Given the description of an element on the screen output the (x, y) to click on. 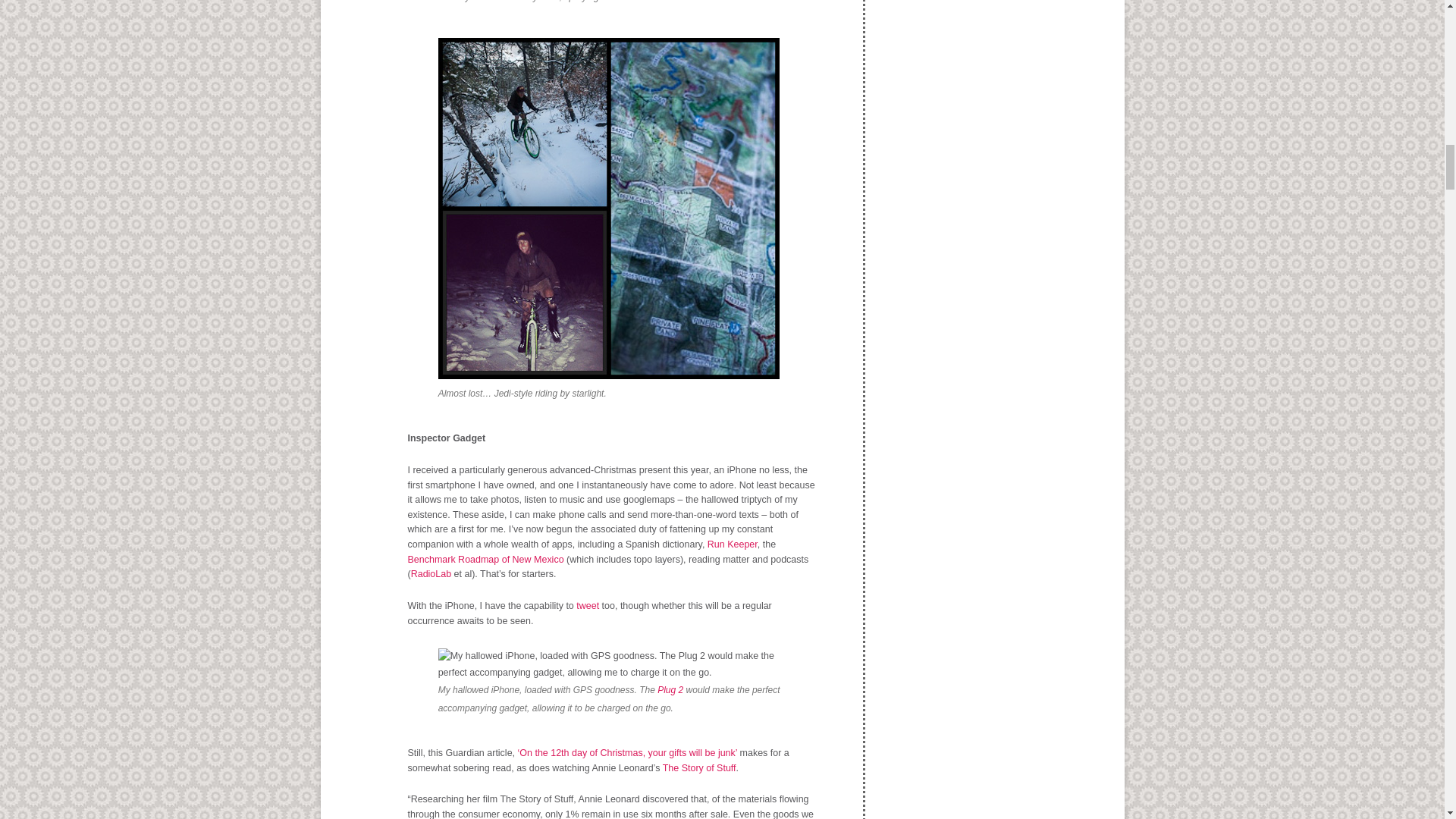
The Story of Stuff (699, 767)
Benchmark Roadmap of New Mexico (485, 559)
tweet (585, 605)
Run Keeper (732, 543)
Plug 2 (670, 689)
RadioLab (430, 573)
